Given the description of an element on the screen output the (x, y) to click on. 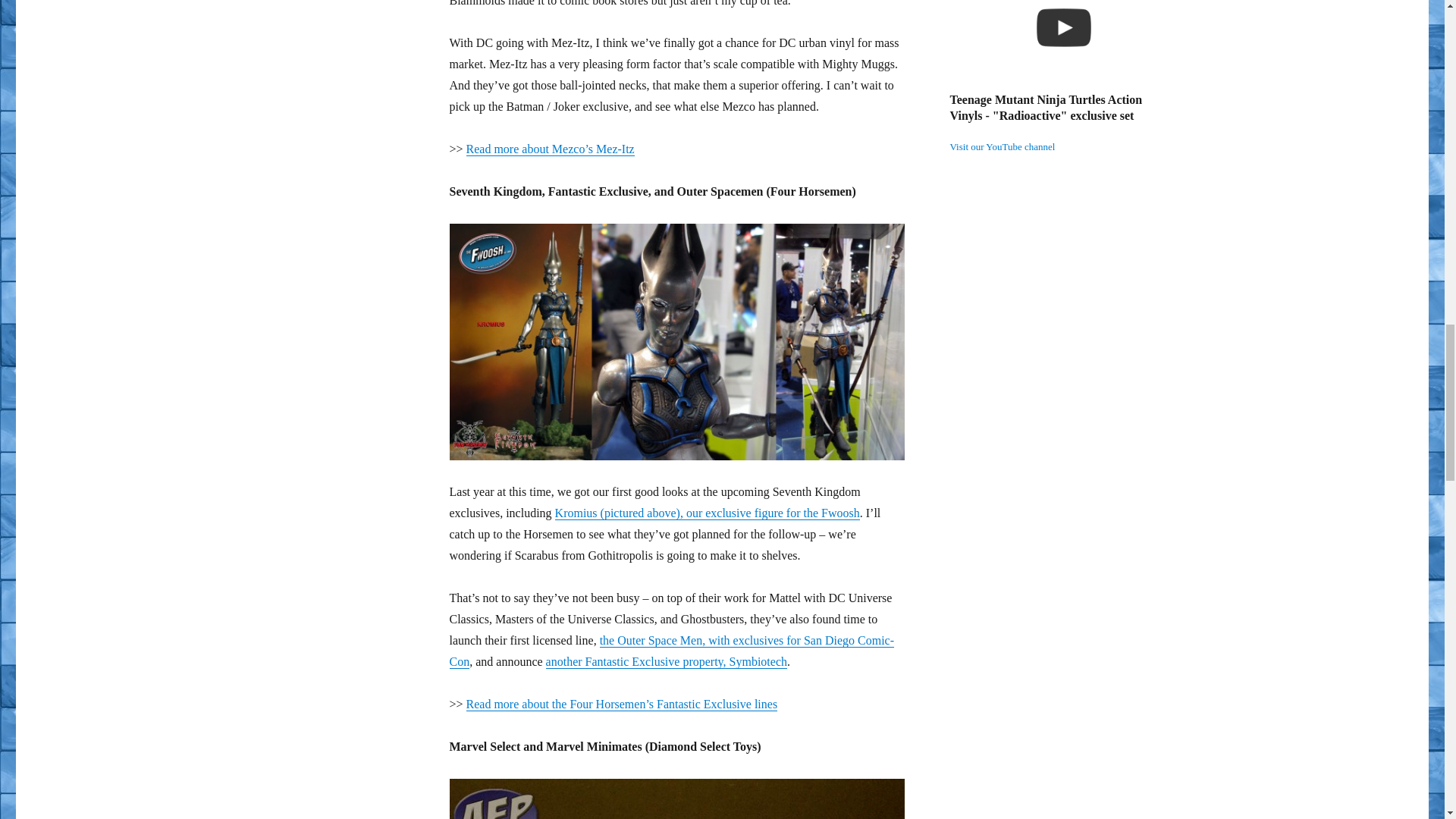
Teenage Mutant Ninja Turtles Action Vinyls -  (1062, 45)
the Outer Space Men, with exclusives for San Diego Comic-Con (670, 650)
kromius (676, 341)
another Fantastic Exclusive property, Symbiotech (666, 661)
